Given the description of an element on the screen output the (x, y) to click on. 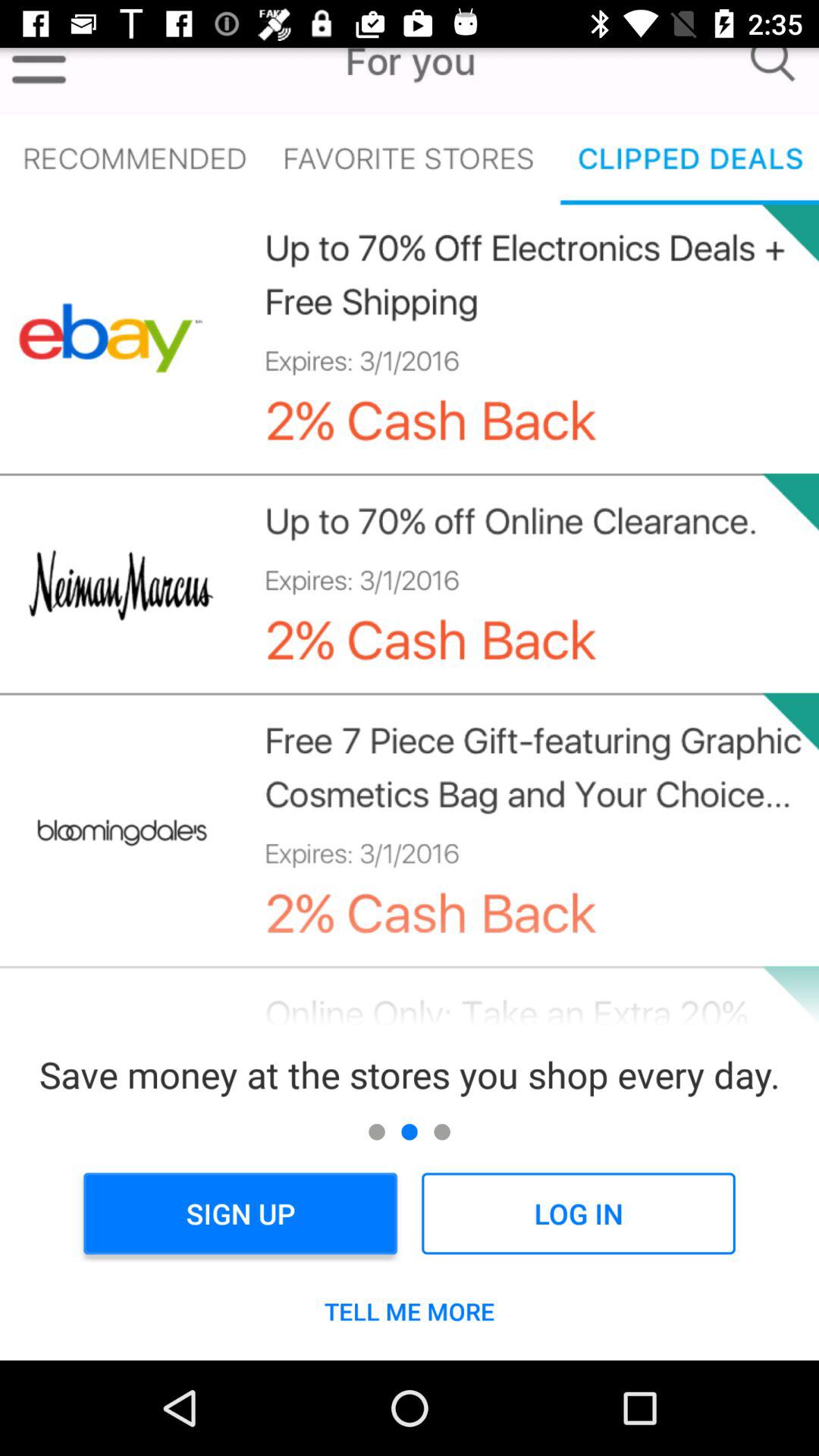
turn on icon next to sign up item (578, 1213)
